Given the description of an element on the screen output the (x, y) to click on. 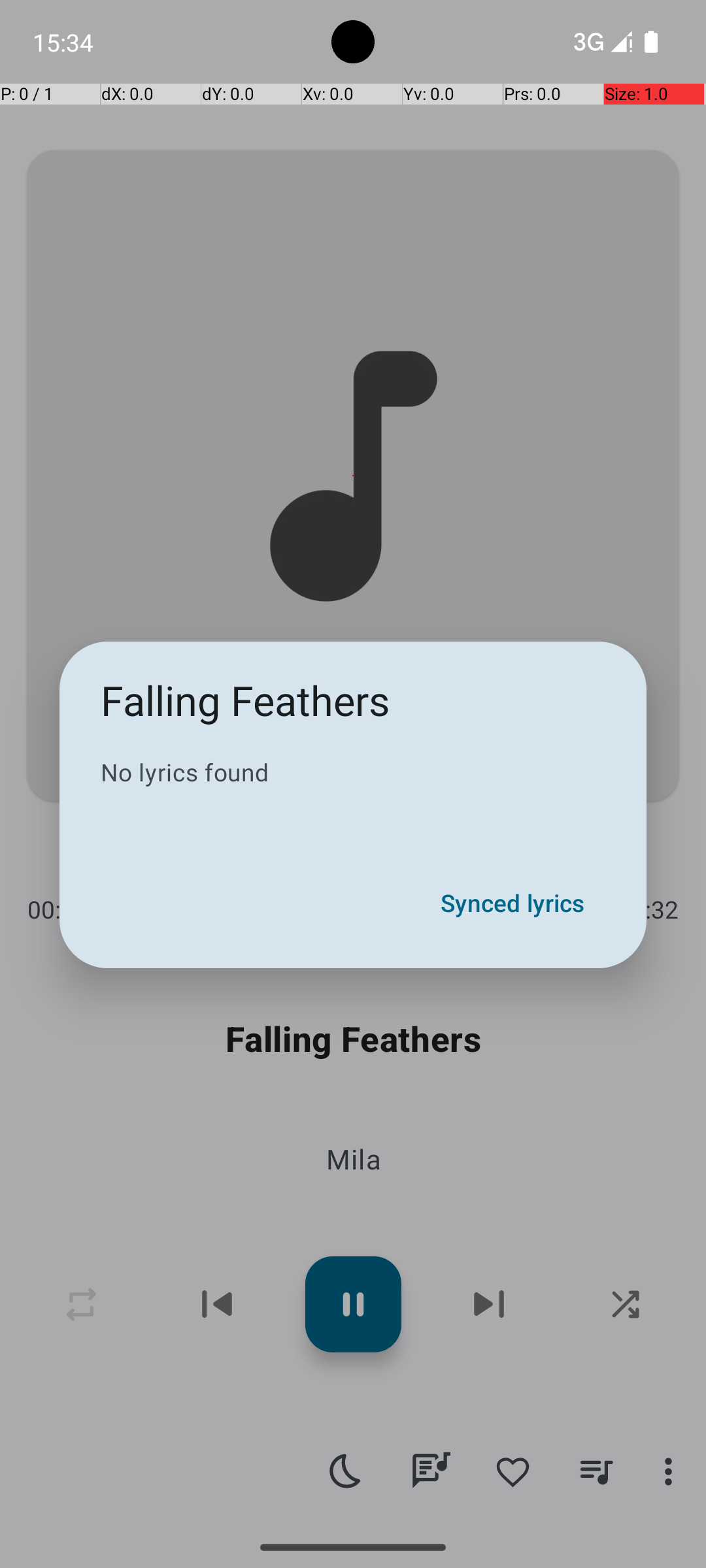
Falling Feathers Element type: android.widget.TextView (245, 699)
No lyrics found Element type: android.widget.TextView (352, 771)
Synced lyrics Element type: android.widget.Button (512, 902)
